Given the description of an element on the screen output the (x, y) to click on. 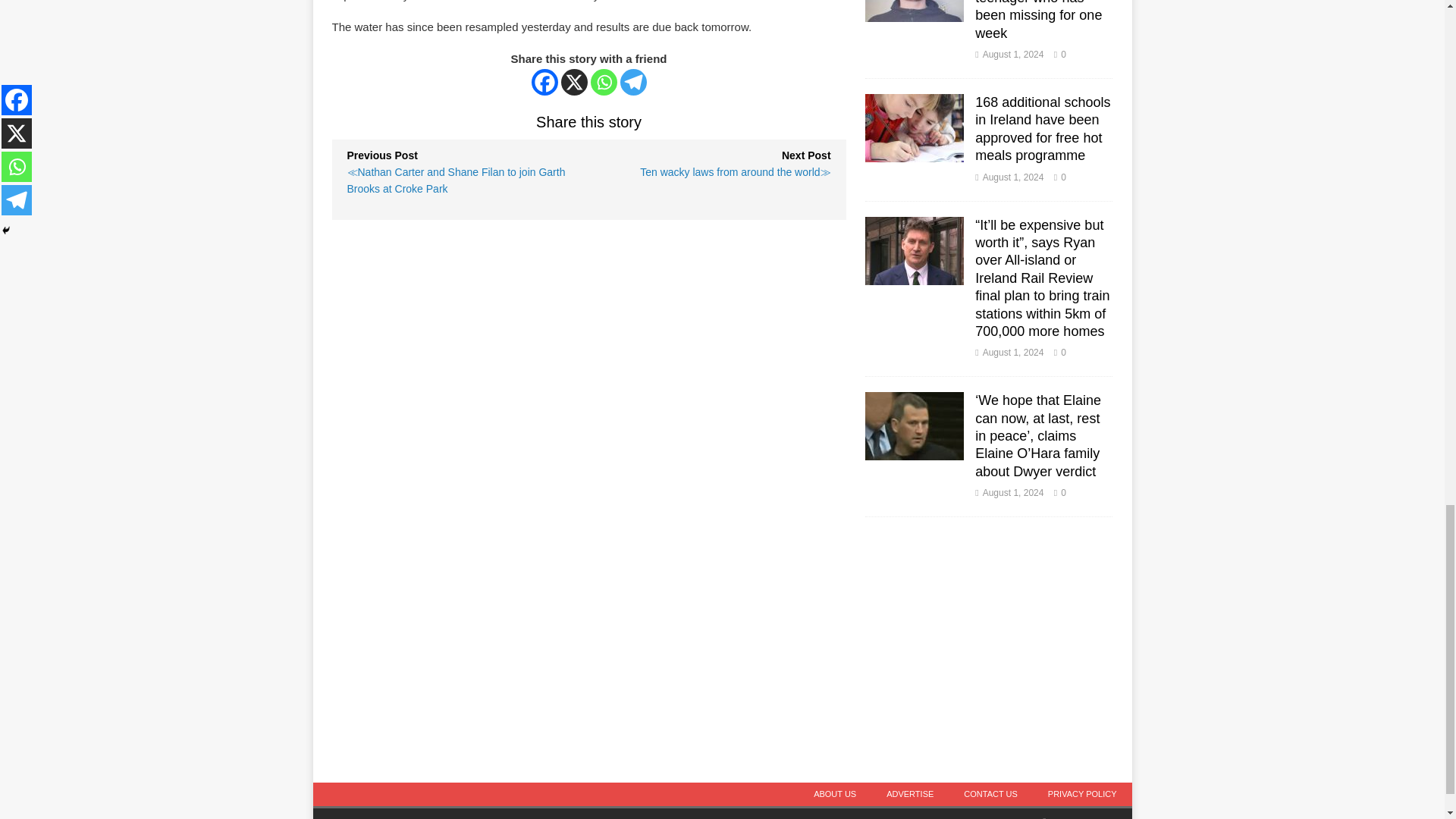
Telegram (633, 81)
Whatsapp (604, 81)
Facebook (544, 81)
X (574, 81)
